Given the description of an element on the screen output the (x, y) to click on. 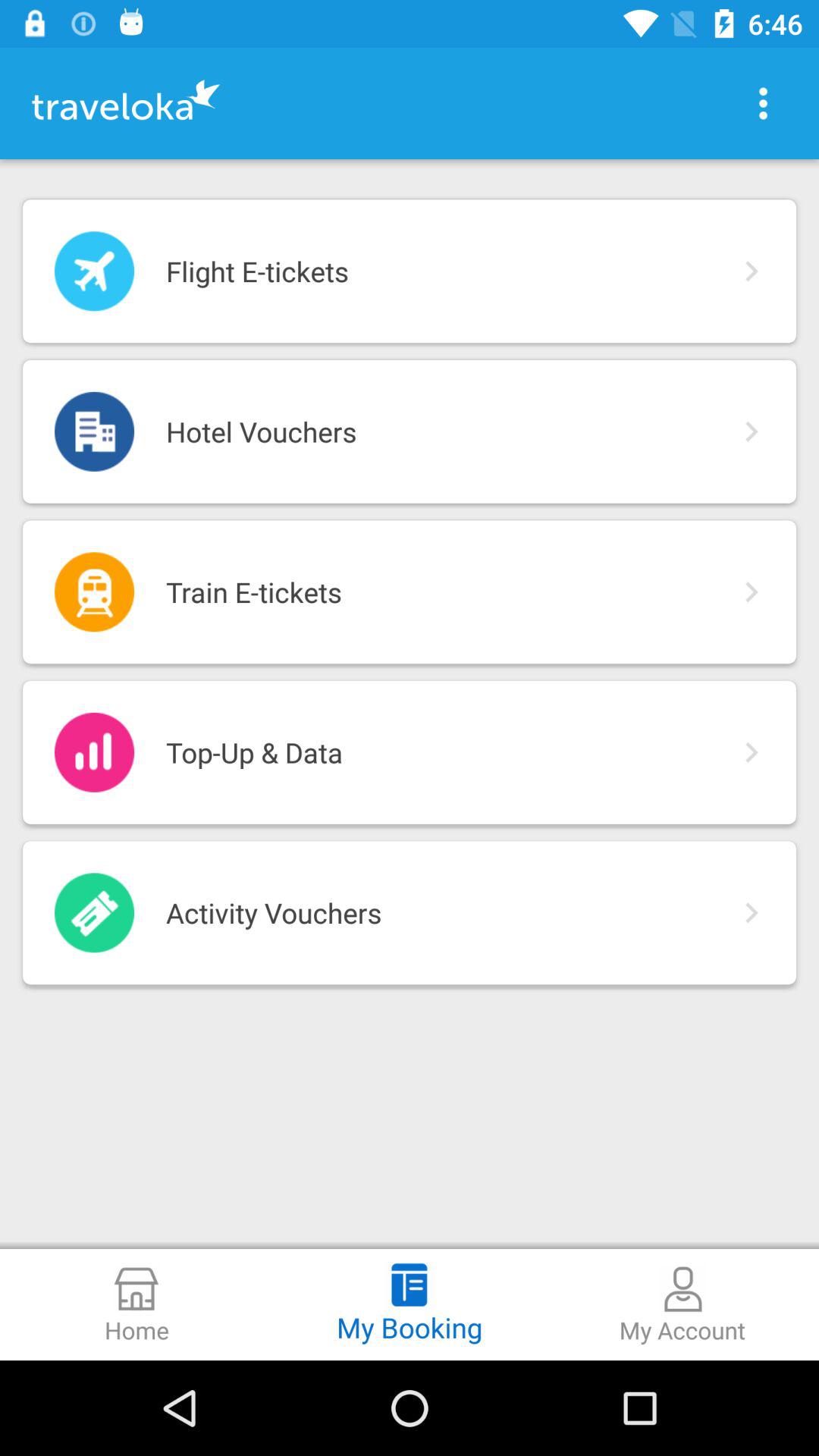
open menu (763, 103)
